Given the description of an element on the screen output the (x, y) to click on. 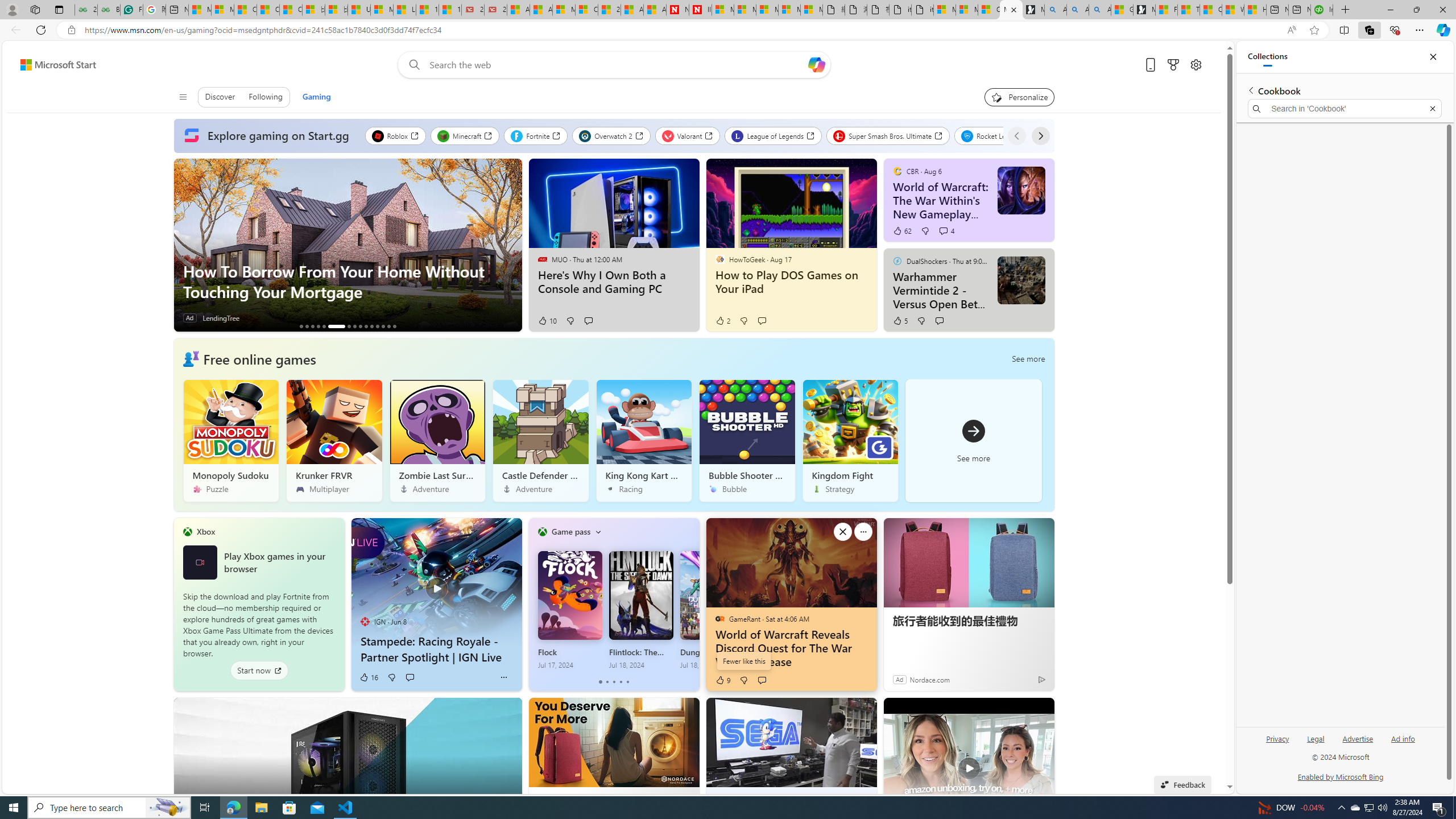
Previous slide (181, 245)
Starfield: How To Use Your Spaceship (377, 326)
AutomationID: tab_nativead-infopane-3 (312, 326)
View comments 4 Comment (943, 230)
Start now (259, 670)
5 Like (900, 320)
Valorant (687, 135)
Newsweek - News, Analysis, Politics, Business, Technology (677, 9)
Class: previous-flipper (533, 604)
